Given the description of an element on the screen output the (x, y) to click on. 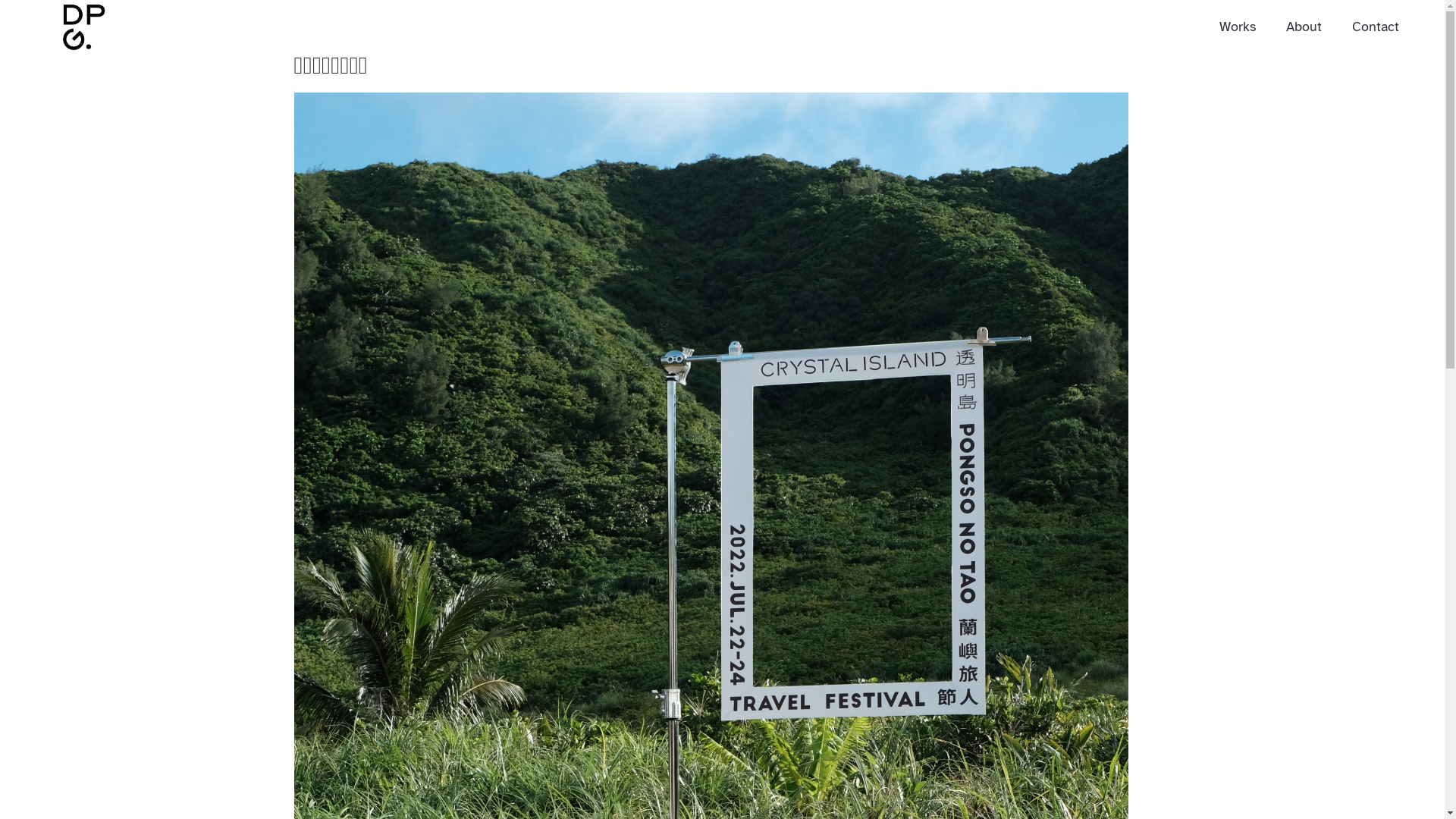
Works Element type: text (1237, 26)
Contact Element type: text (1375, 26)
About Element type: text (1303, 26)
